Given the description of an element on the screen output the (x, y) to click on. 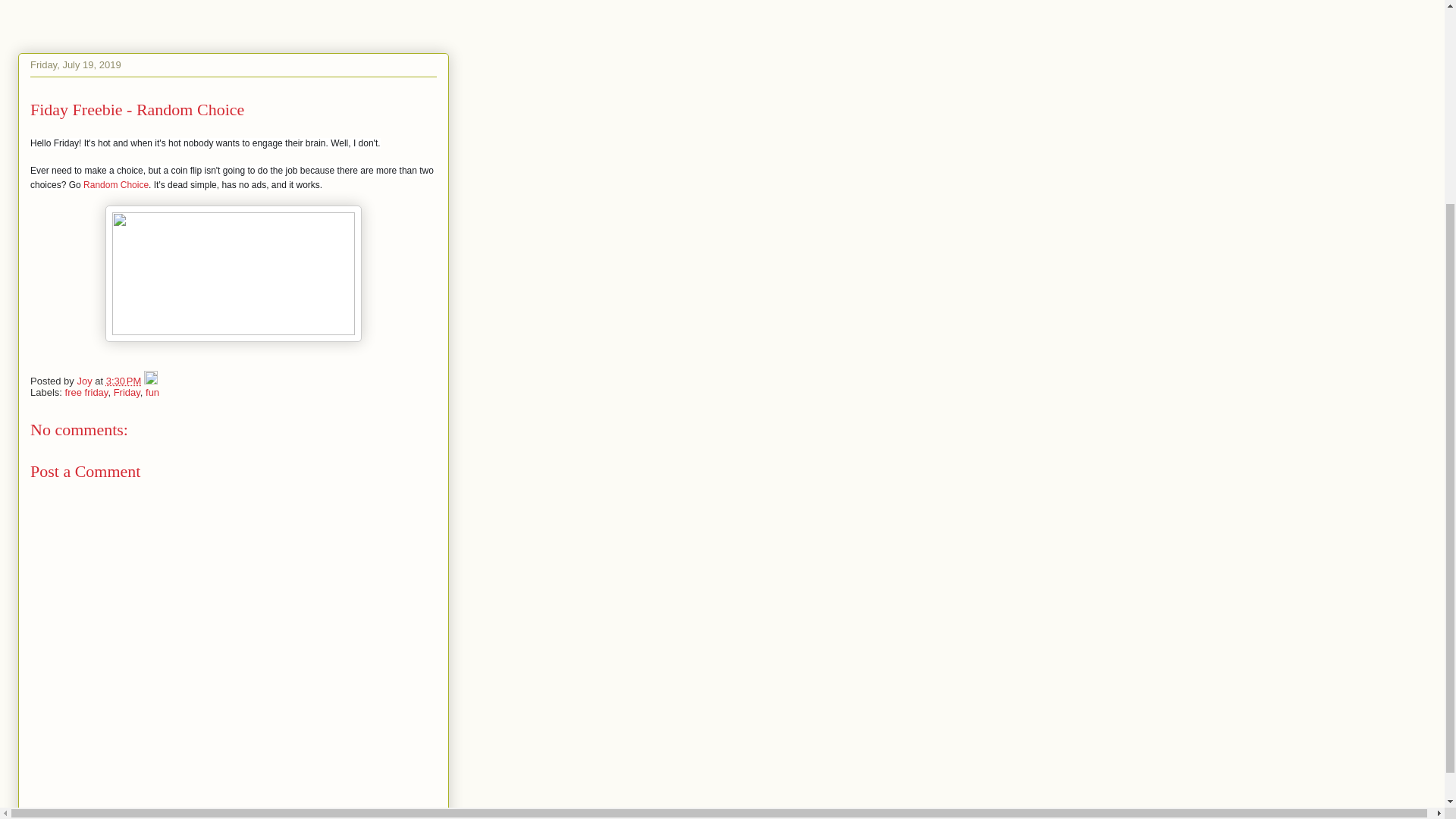
Random Choice (115, 184)
author profile (85, 380)
Edit Post (150, 380)
Friday (126, 392)
Joy (85, 380)
free friday (86, 392)
fun (151, 392)
permanent link (123, 380)
